Given the description of an element on the screen output the (x, y) to click on. 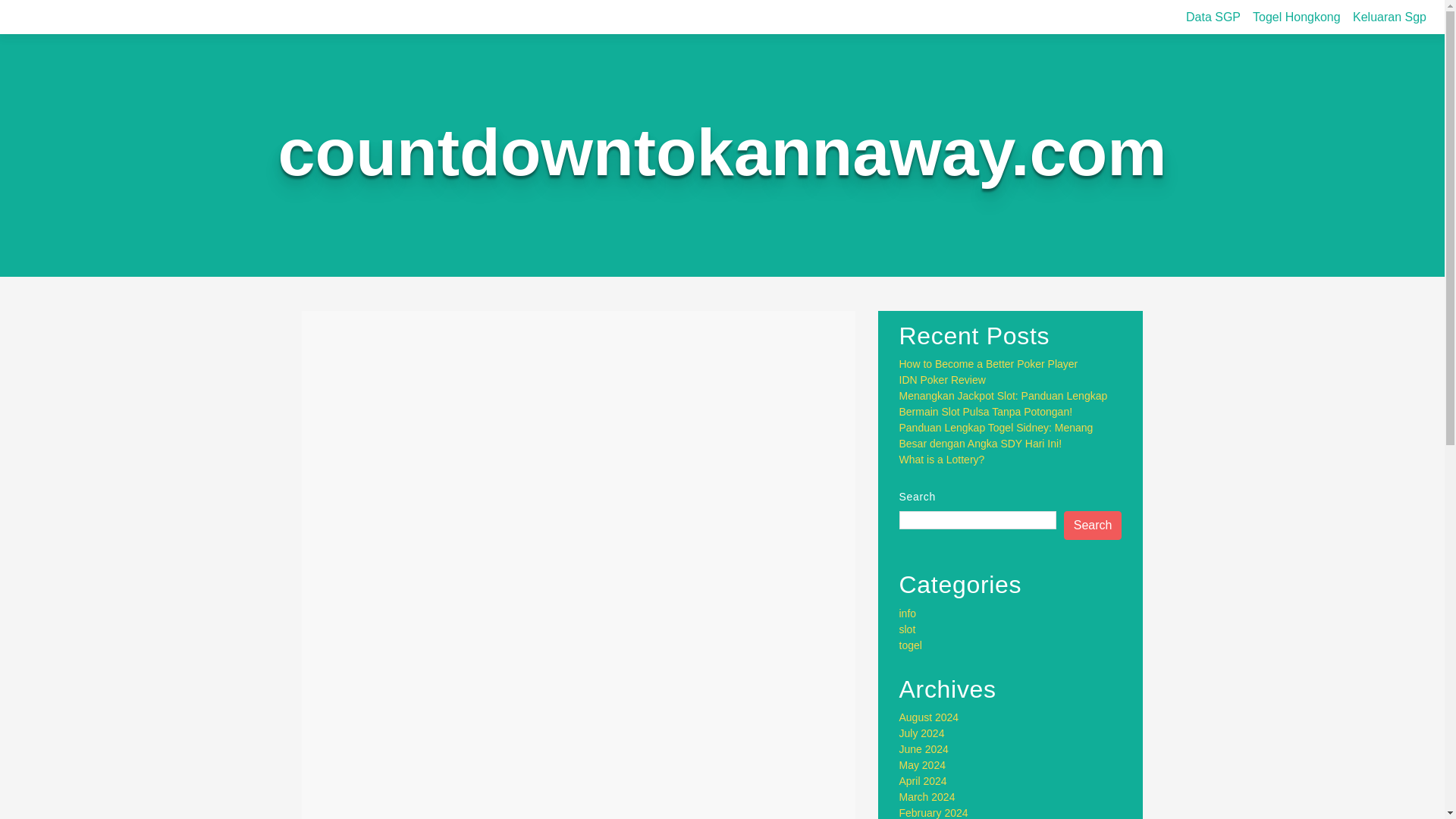
What is a Lottery? (942, 459)
Togel Hongkong (1296, 16)
admincou (538, 422)
June 2024 (924, 748)
March 2024 (927, 797)
IDN Poker Review (942, 379)
Search (1093, 525)
How to Become a Better Poker Player (988, 363)
